Given the description of an element on the screen output the (x, y) to click on. 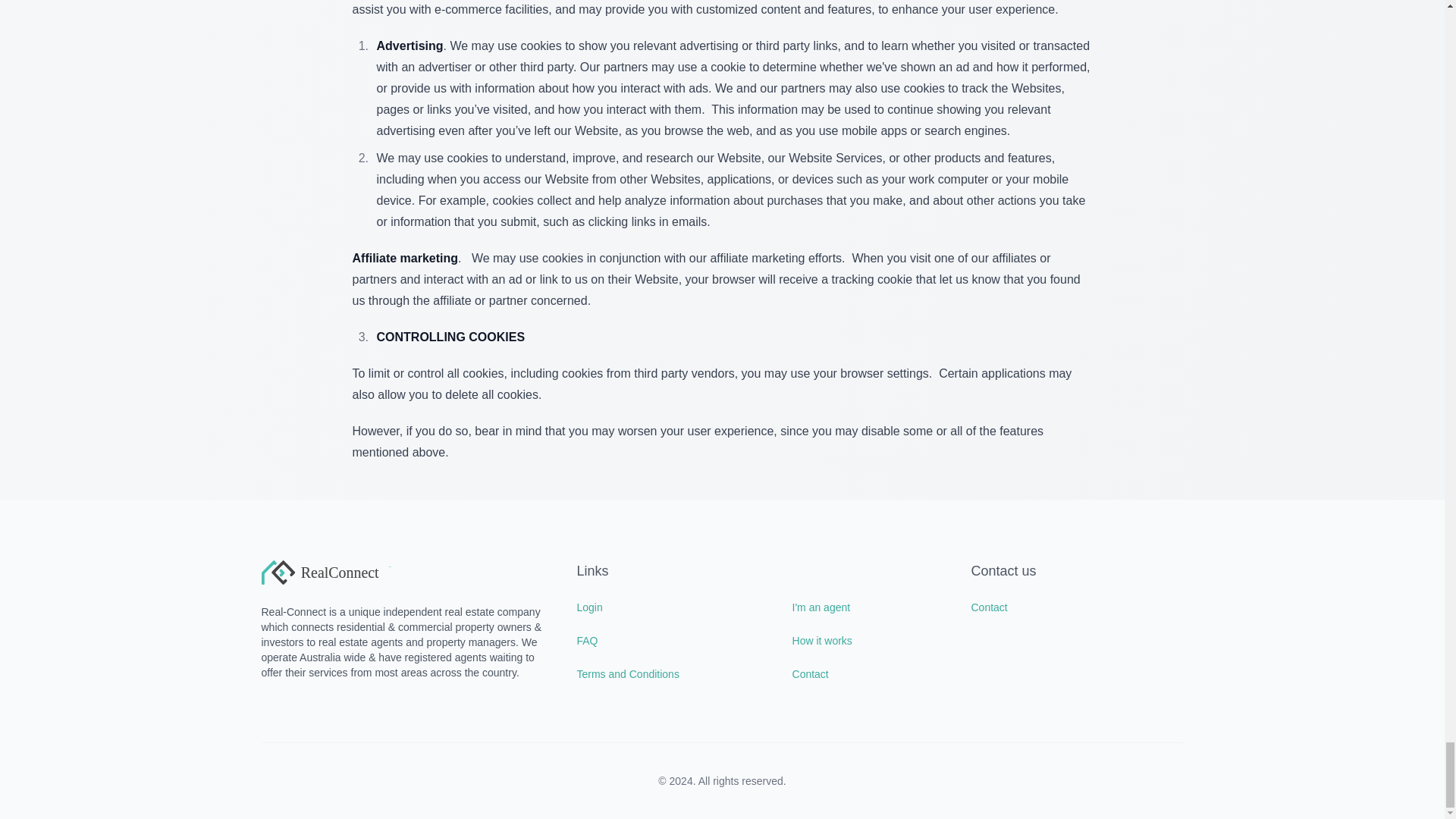
I'm an agent (869, 607)
Contact (1076, 607)
How it works (869, 640)
Terms and Conditions (674, 673)
Contact (869, 673)
FAQ (674, 640)
Login (674, 607)
